Given the description of an element on the screen output the (x, y) to click on. 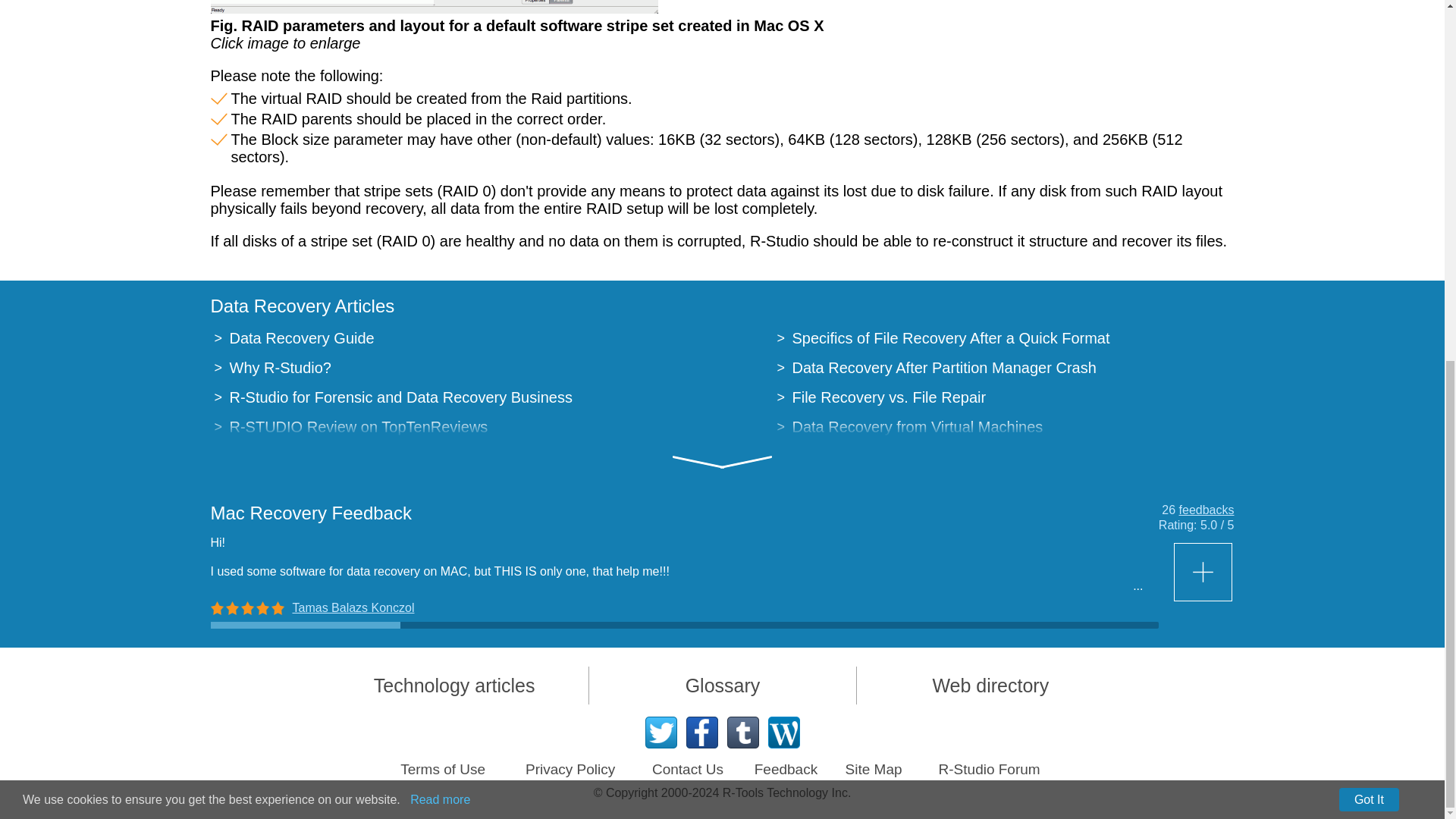
Add your input (1203, 571)
Wordpress (783, 732)
Facebook (701, 732)
Tumblr (742, 732)
Twitter (661, 732)
